Given the description of an element on the screen output the (x, y) to click on. 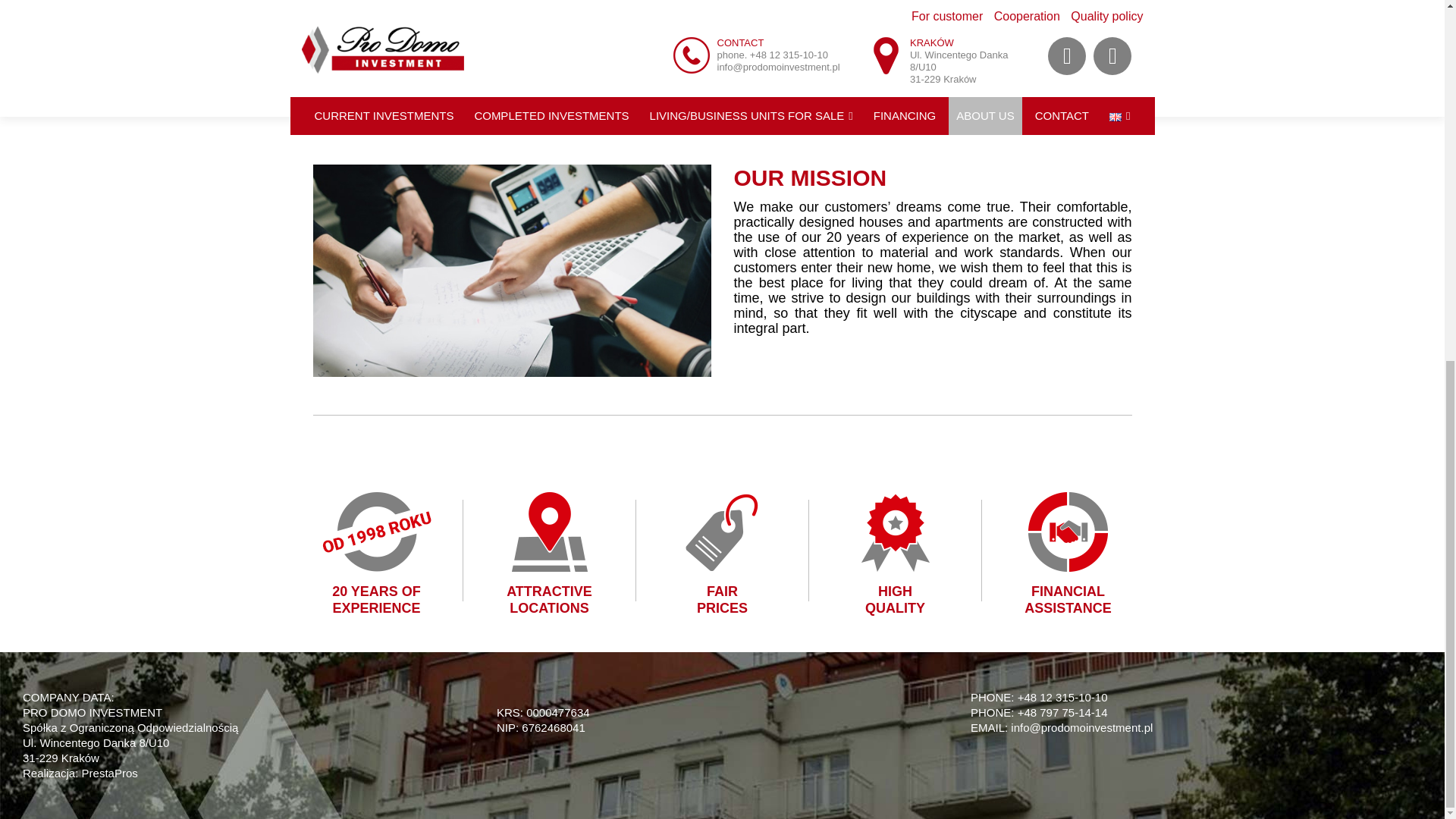
PrestaPros (109, 772)
sklepy PrestaShop (109, 772)
